Given the description of an element on the screen output the (x, y) to click on. 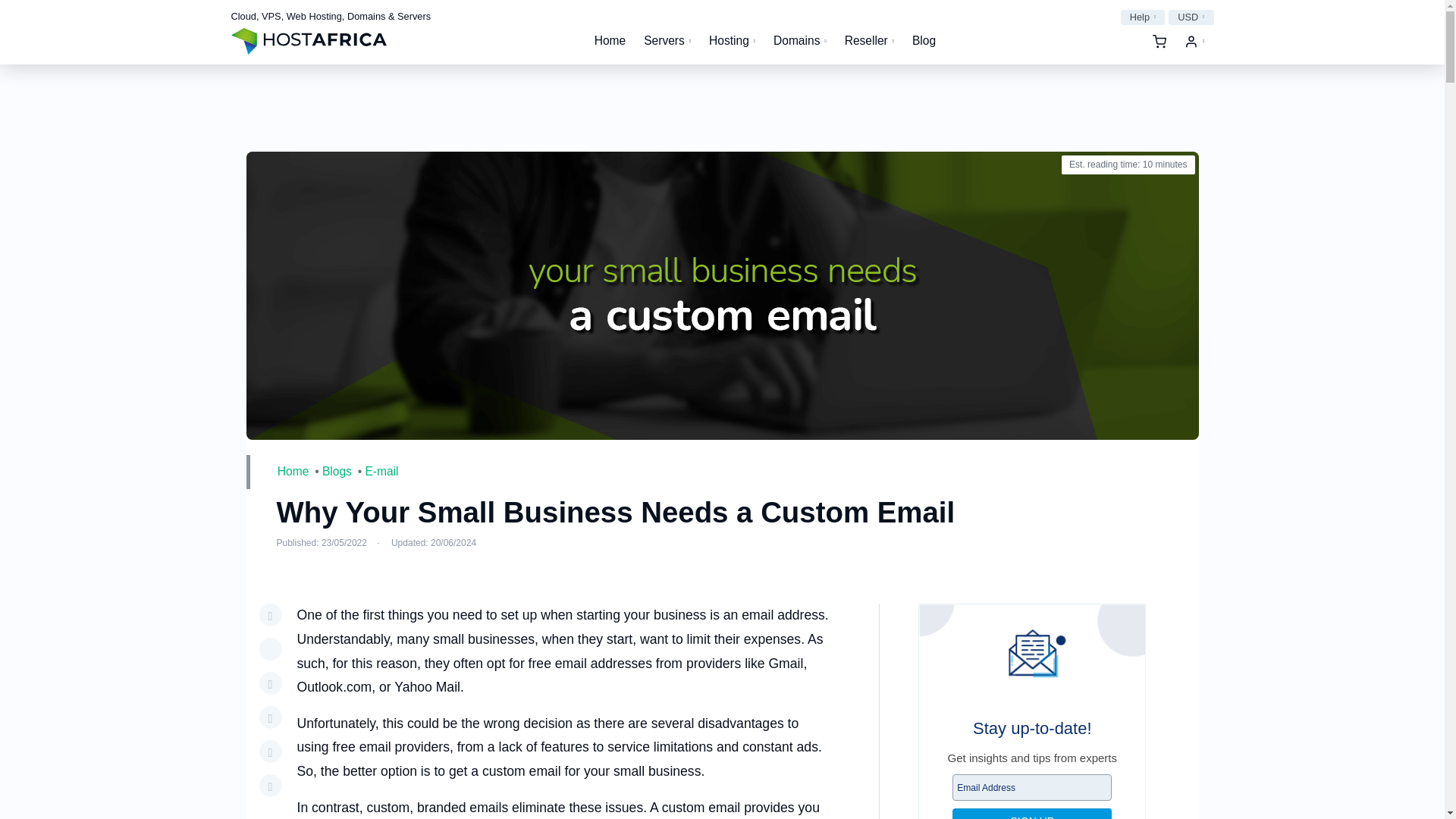
SIGN UP (1032, 813)
Servers (667, 41)
view cart (1158, 41)
Home (609, 41)
user account (1193, 41)
Copy Link (270, 784)
Hosting (732, 41)
reddit (270, 716)
Domains (799, 41)
Twitter (270, 649)
Reseller (868, 41)
Facebook (270, 614)
WhatsApp (270, 751)
LinkedIn (270, 682)
Help (1143, 17)
